Given the description of an element on the screen output the (x, y) to click on. 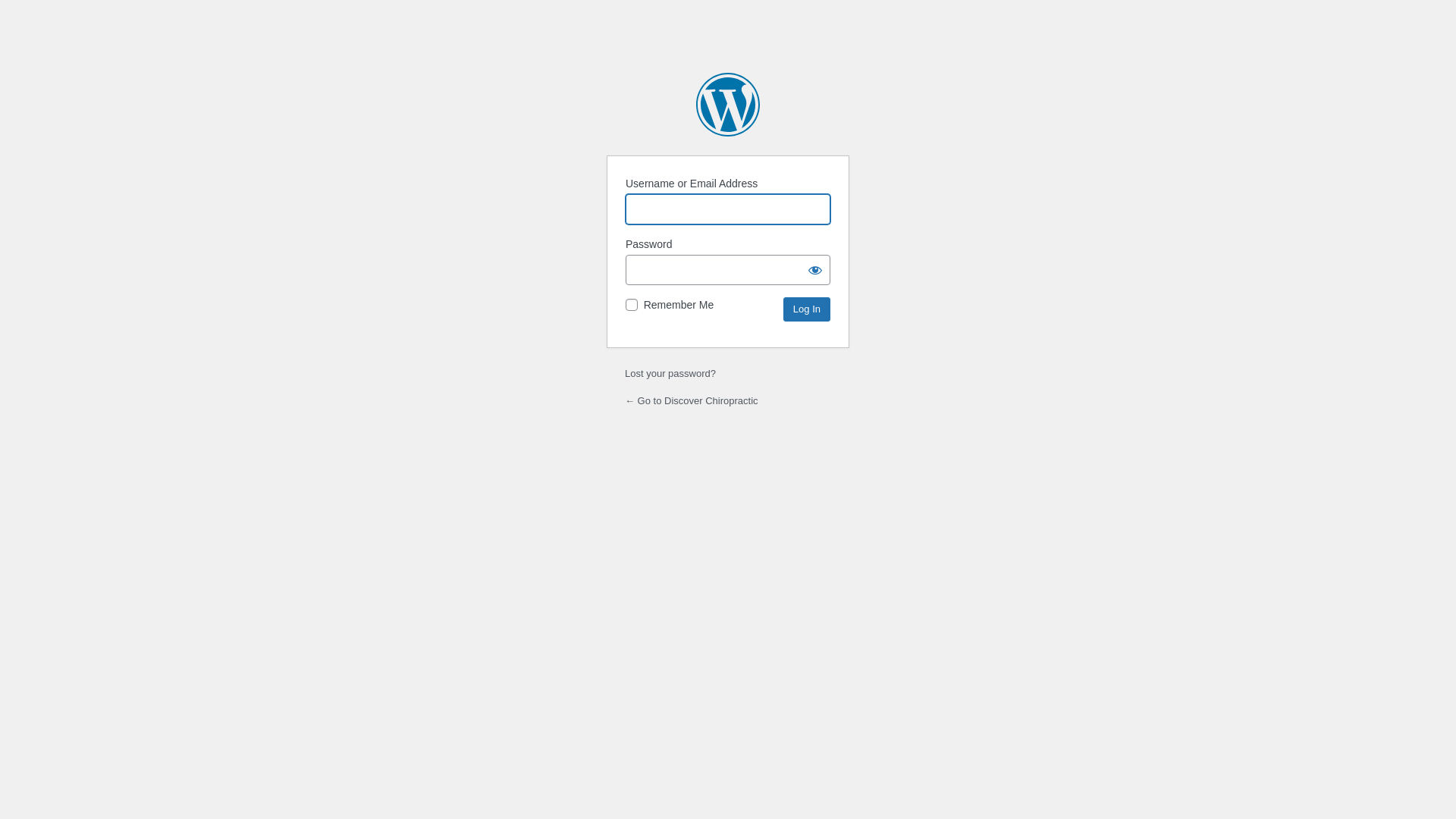
Log In Element type: text (806, 309)
Lost your password? Element type: text (669, 373)
Powered by WordPress Element type: text (727, 104)
